Given the description of an element on the screen output the (x, y) to click on. 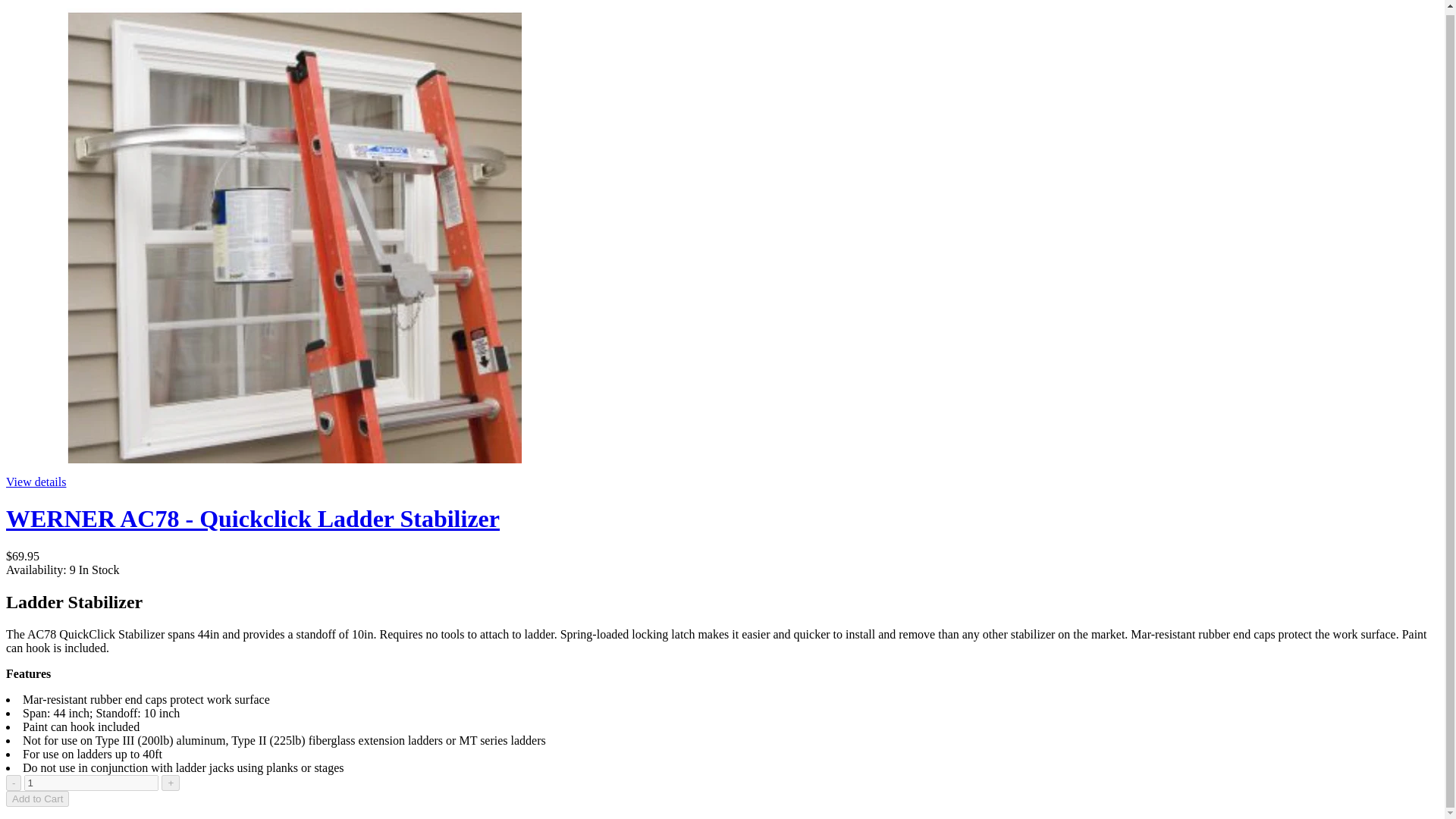
- (13, 782)
1 (91, 782)
Add to Cart (36, 798)
View details (35, 481)
WERNER AC78 - Quickclick Ladder Stabilizer (252, 518)
